Given the description of an element on the screen output the (x, y) to click on. 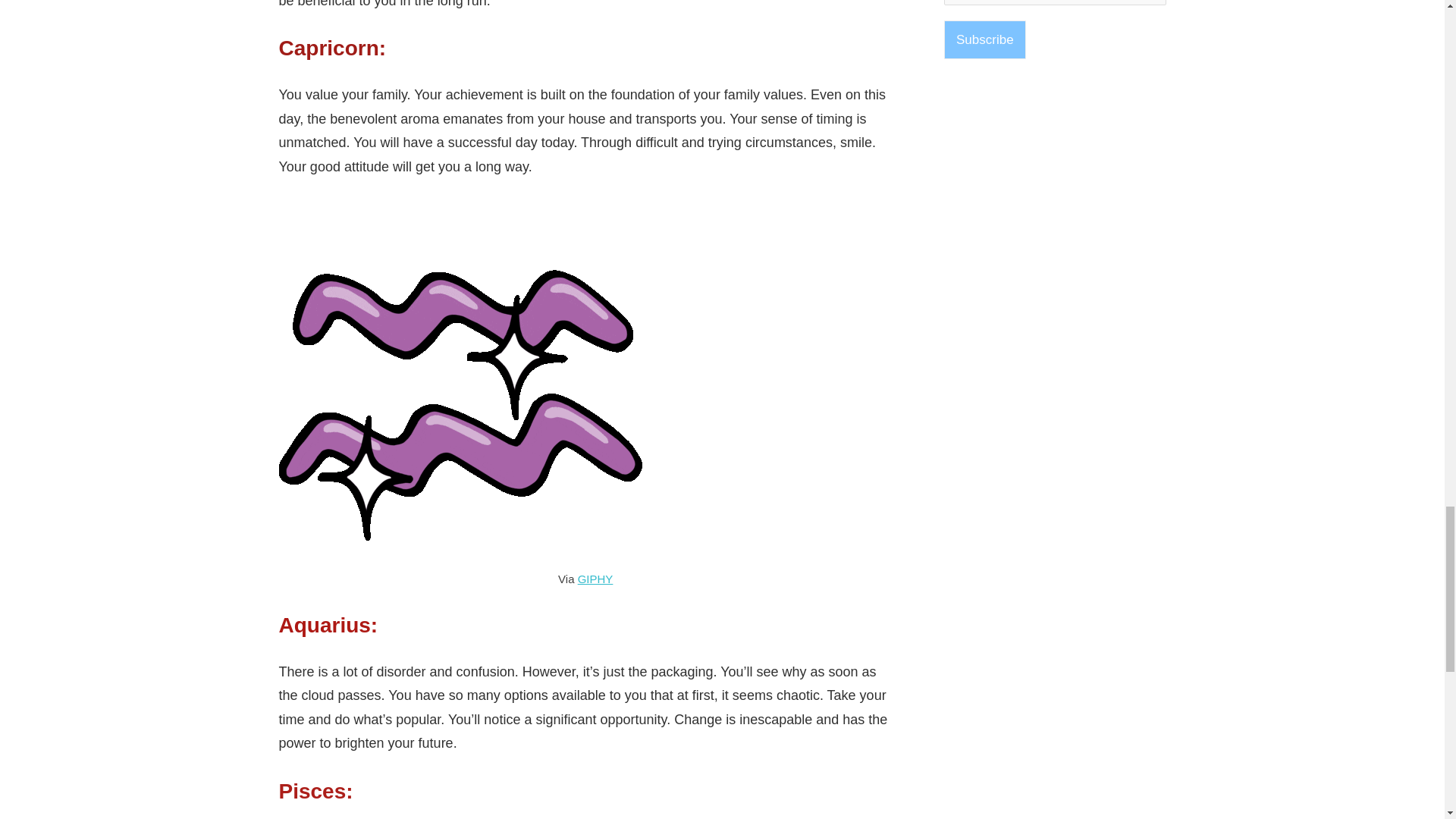
GIPHY (595, 578)
